Given the description of an element on the screen output the (x, y) to click on. 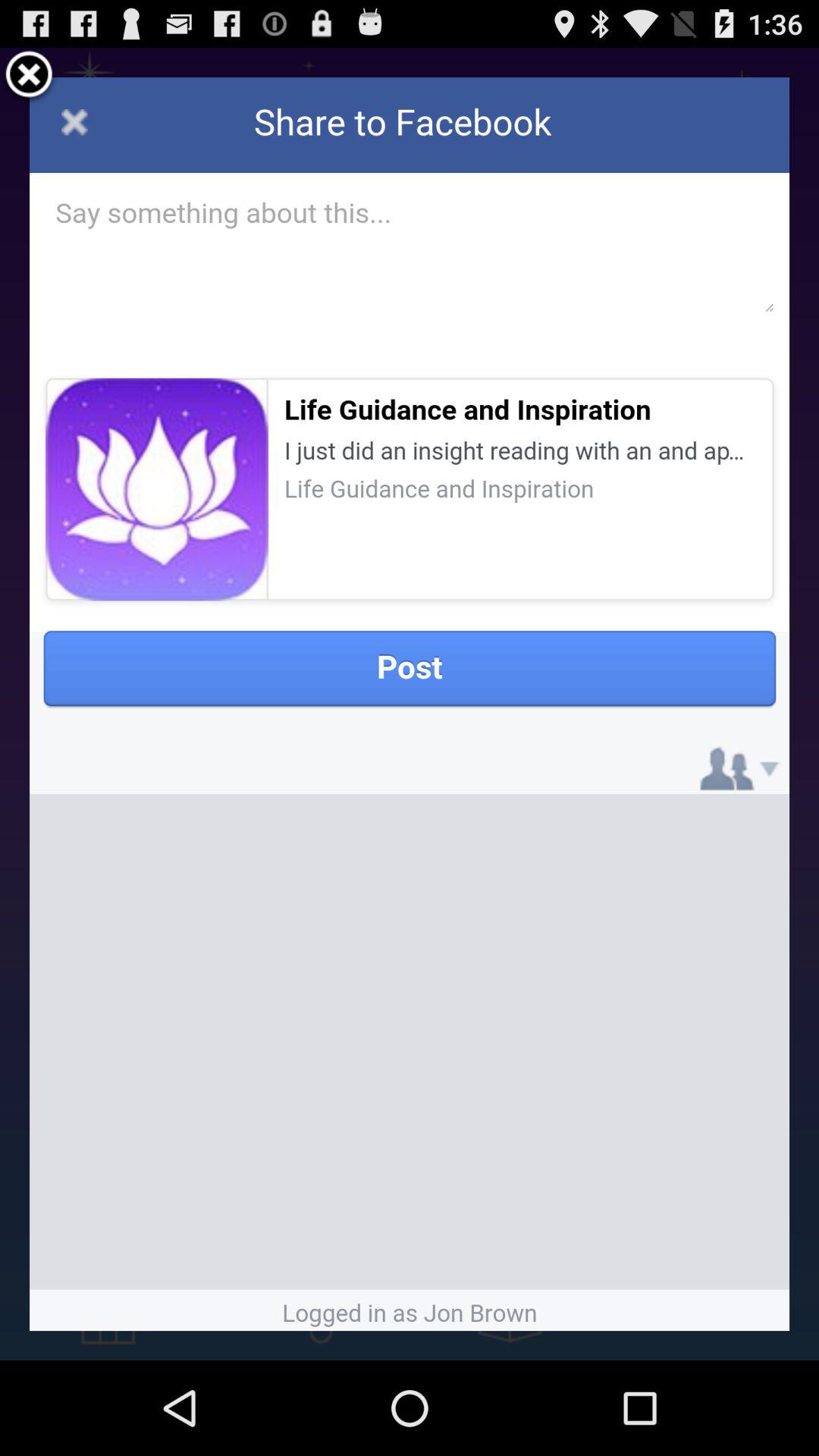
click the icon at the top left corner (29, 76)
